Given the description of an element on the screen output the (x, y) to click on. 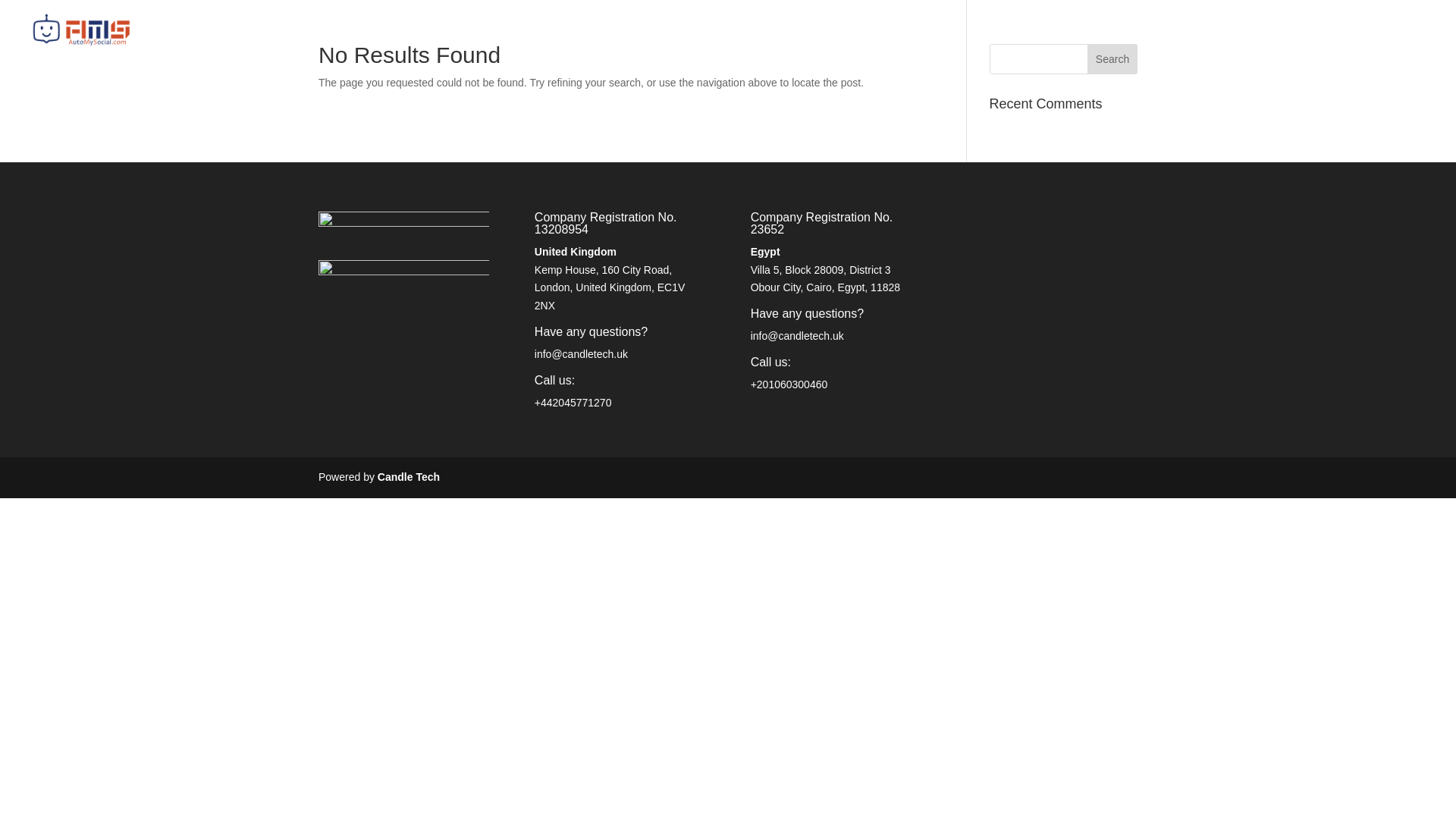
AMS WhatsApp (1283, 42)
Search (1112, 59)
AMS Facebook (1187, 42)
Candle Tech (408, 476)
Search (1112, 59)
Contact (1363, 42)
